Given the description of an element on the screen output the (x, y) to click on. 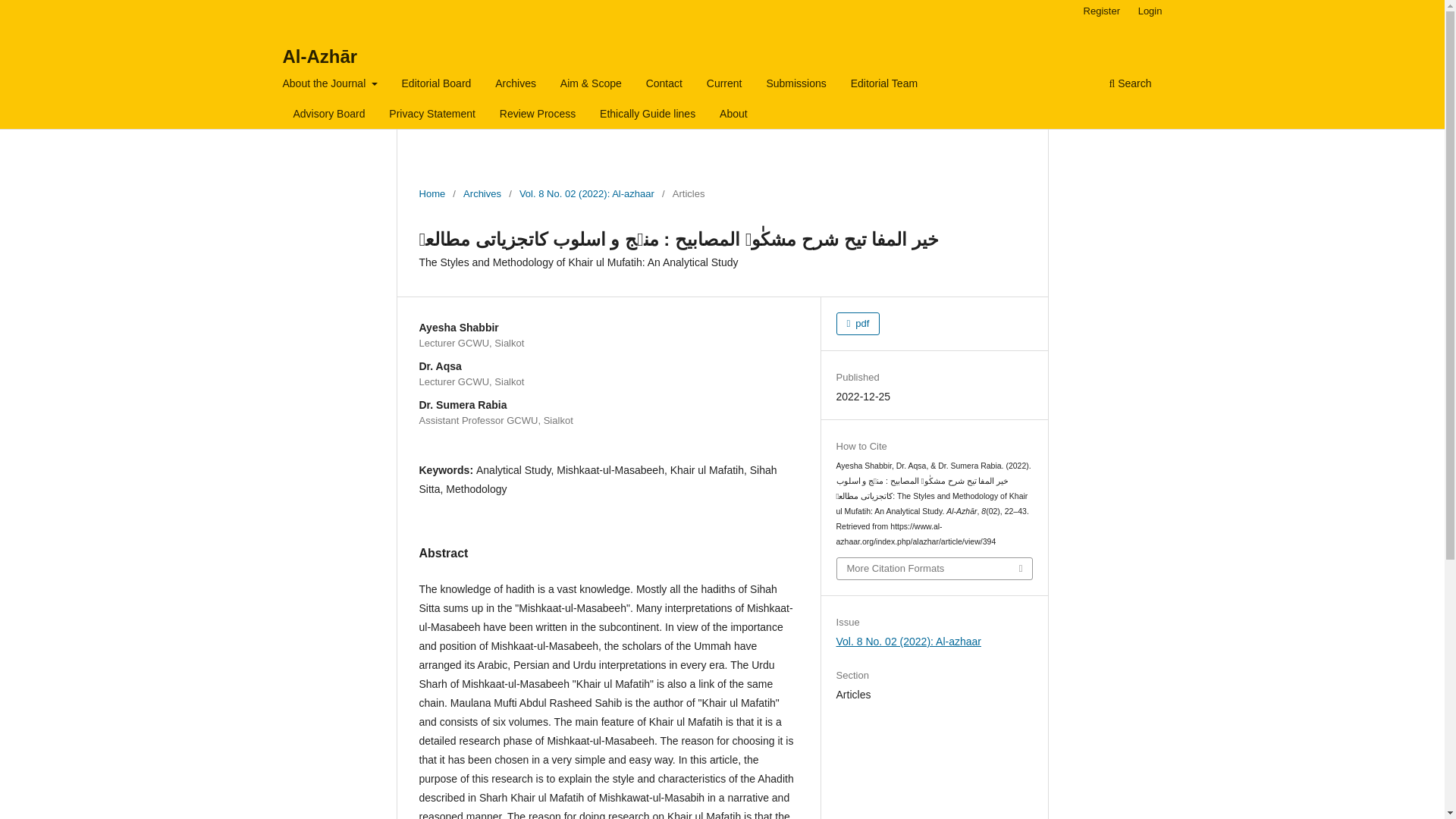
Privacy Statement (432, 115)
Archives (481, 193)
Login (1150, 11)
Register (1100, 11)
Editorial Board (436, 85)
More Citation Formats (934, 568)
Submissions (795, 85)
About the Journal (330, 85)
Archives (515, 85)
Search (1129, 85)
Contact (663, 85)
Home (432, 193)
pdf (857, 323)
About (733, 115)
Review Process (537, 115)
